Given the description of an element on the screen output the (x, y) to click on. 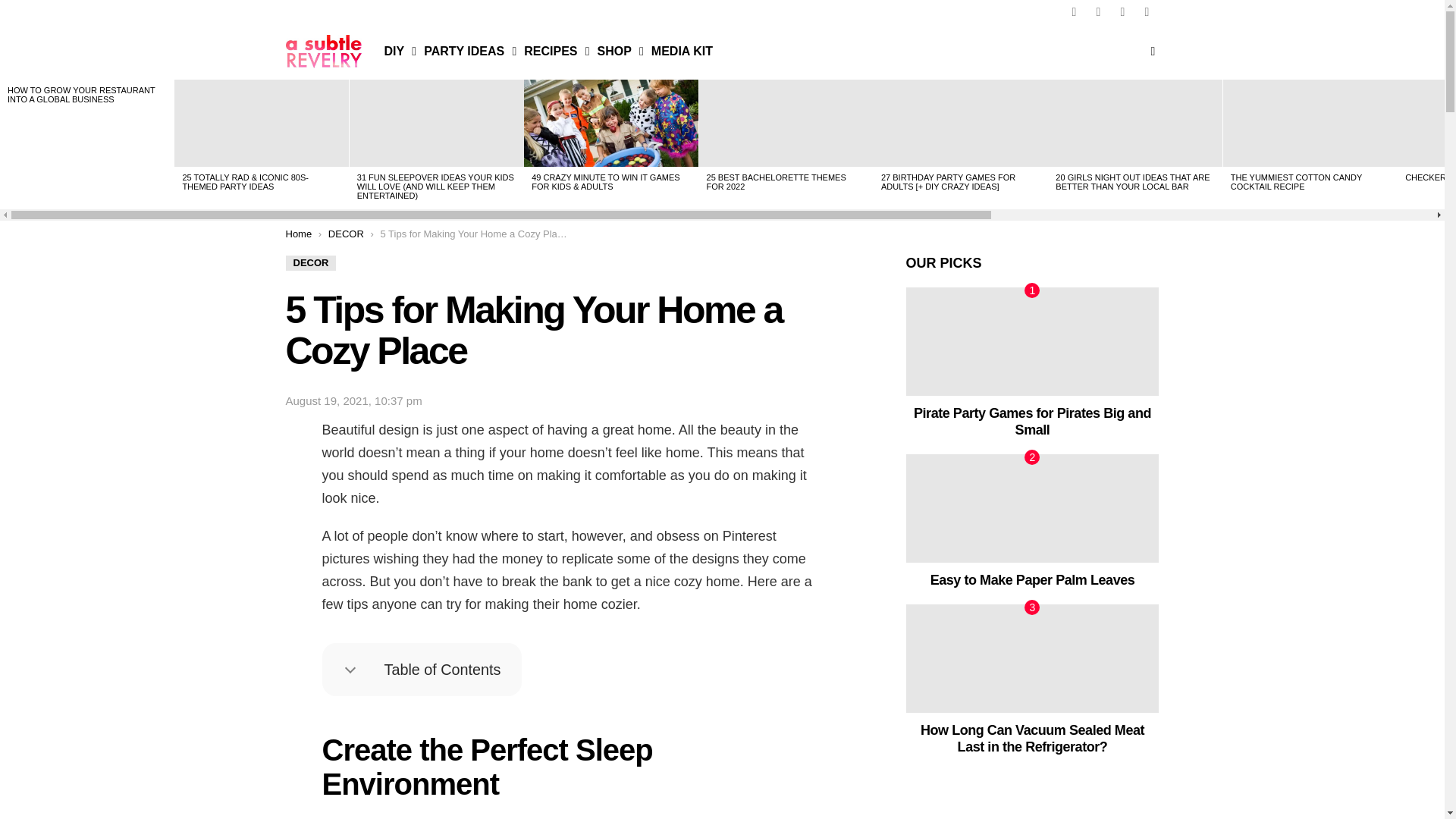
The Yummiest Cotton Candy Cocktail Recipe (1310, 123)
DIY (395, 51)
RECIPES (552, 51)
pinterest (1121, 11)
20 Girls Night Out Ideas That Are Better Than Your Local Bar (1135, 123)
instagram (1097, 11)
PARTY IDEAS (466, 51)
facebook (1073, 11)
youtube (1146, 11)
25 Best Bachelorette Themes for 2022 (785, 123)
